Given the description of an element on the screen output the (x, y) to click on. 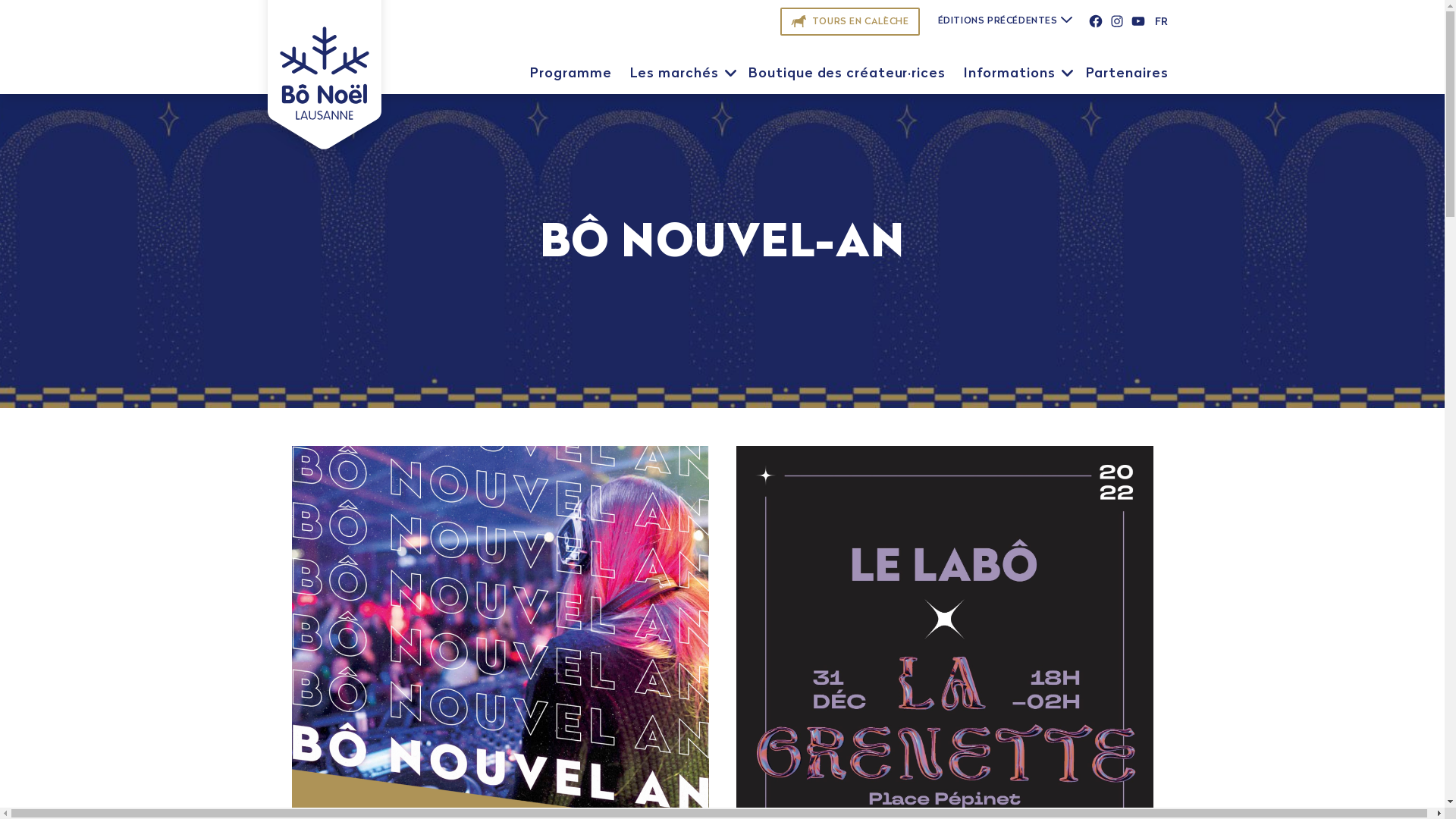
Partenaires Element type: text (1126, 73)
Programme Element type: text (570, 73)
YouTube Element type: text (1137, 20)
Instagram Element type: text (1115, 20)
Informations Element type: text (1009, 74)
Facebook Element type: text (1094, 20)
